Given the description of an element on the screen output the (x, y) to click on. 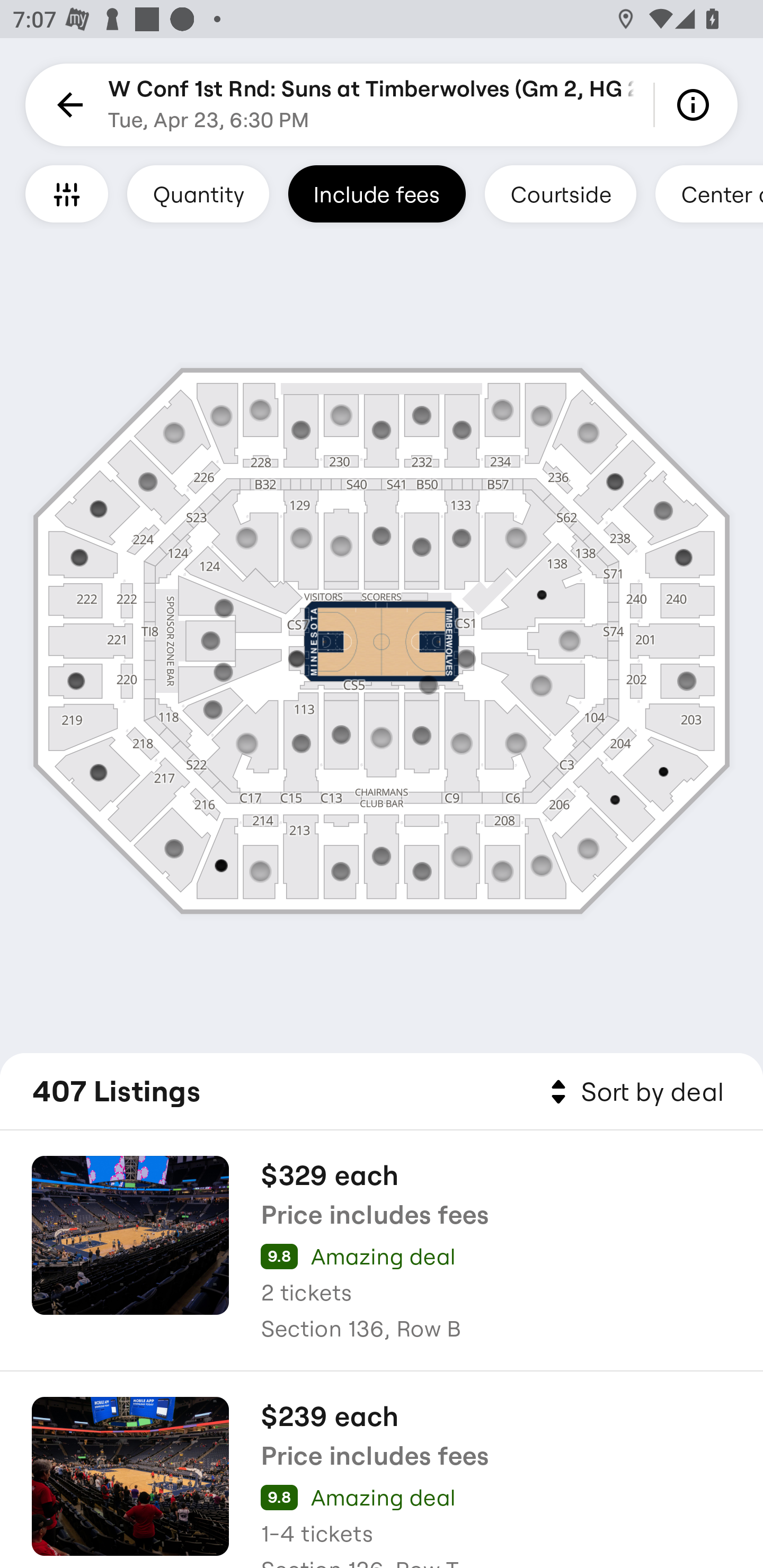
Back (66, 104)
Info (695, 104)
Filters and Accessible Seating (66, 193)
Quantity (198, 193)
Include fees (376, 193)
Courtside (560, 193)
Center court (709, 193)
Sort by deal (633, 1091)
